Given the description of an element on the screen output the (x, y) to click on. 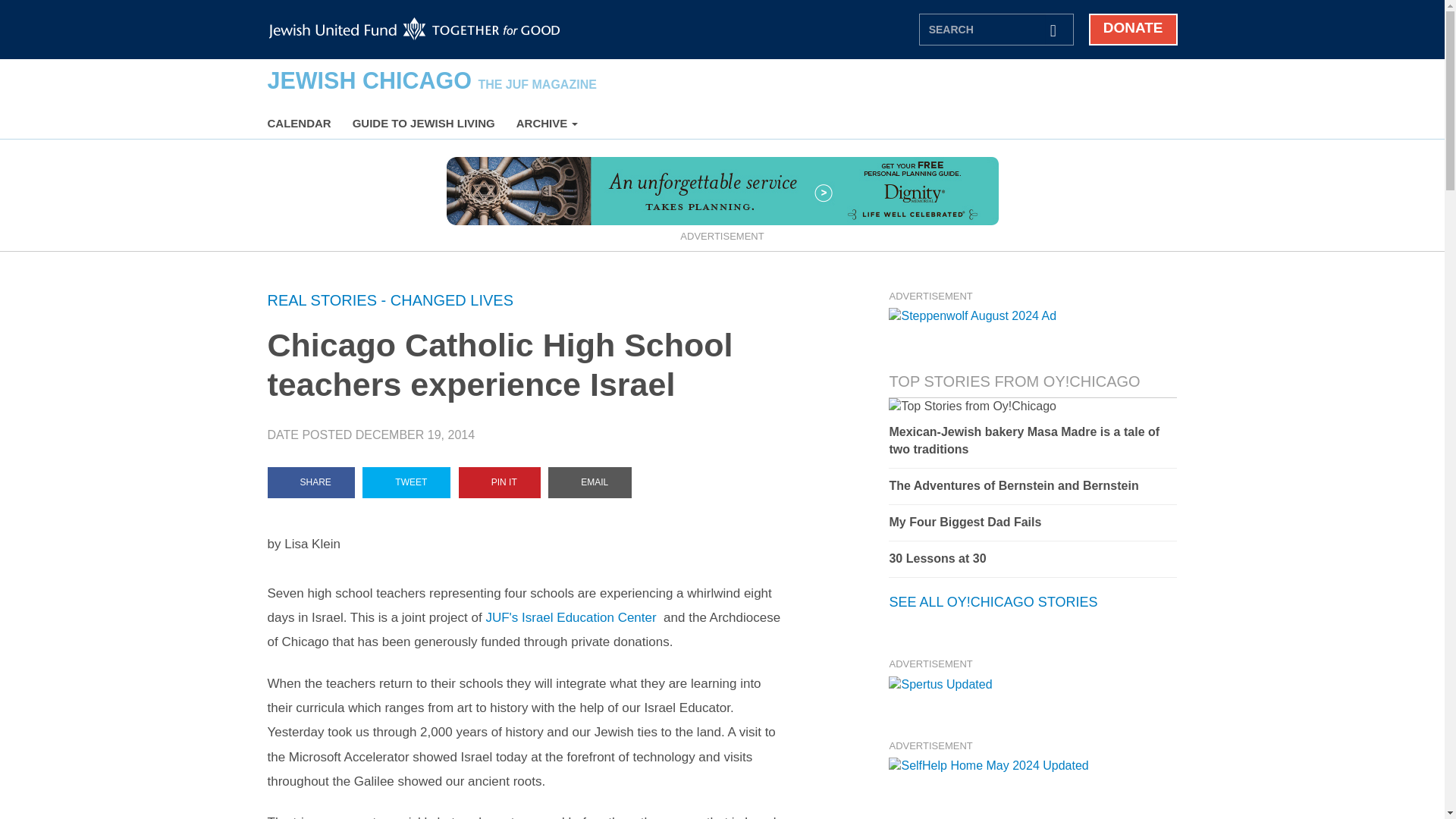
SCI-Dignity (721, 189)
The Adventures of Bernstein and Bernstein (1032, 486)
Guide to Jewish Living (423, 123)
SHARE (309, 481)
Pin it on Pinterest (499, 481)
JUF Home (414, 29)
Share on Facebook (309, 481)
Jewish Chicago Home (430, 80)
Email this (589, 481)
EMAIL (589, 481)
